Given the description of an element on the screen output the (x, y) to click on. 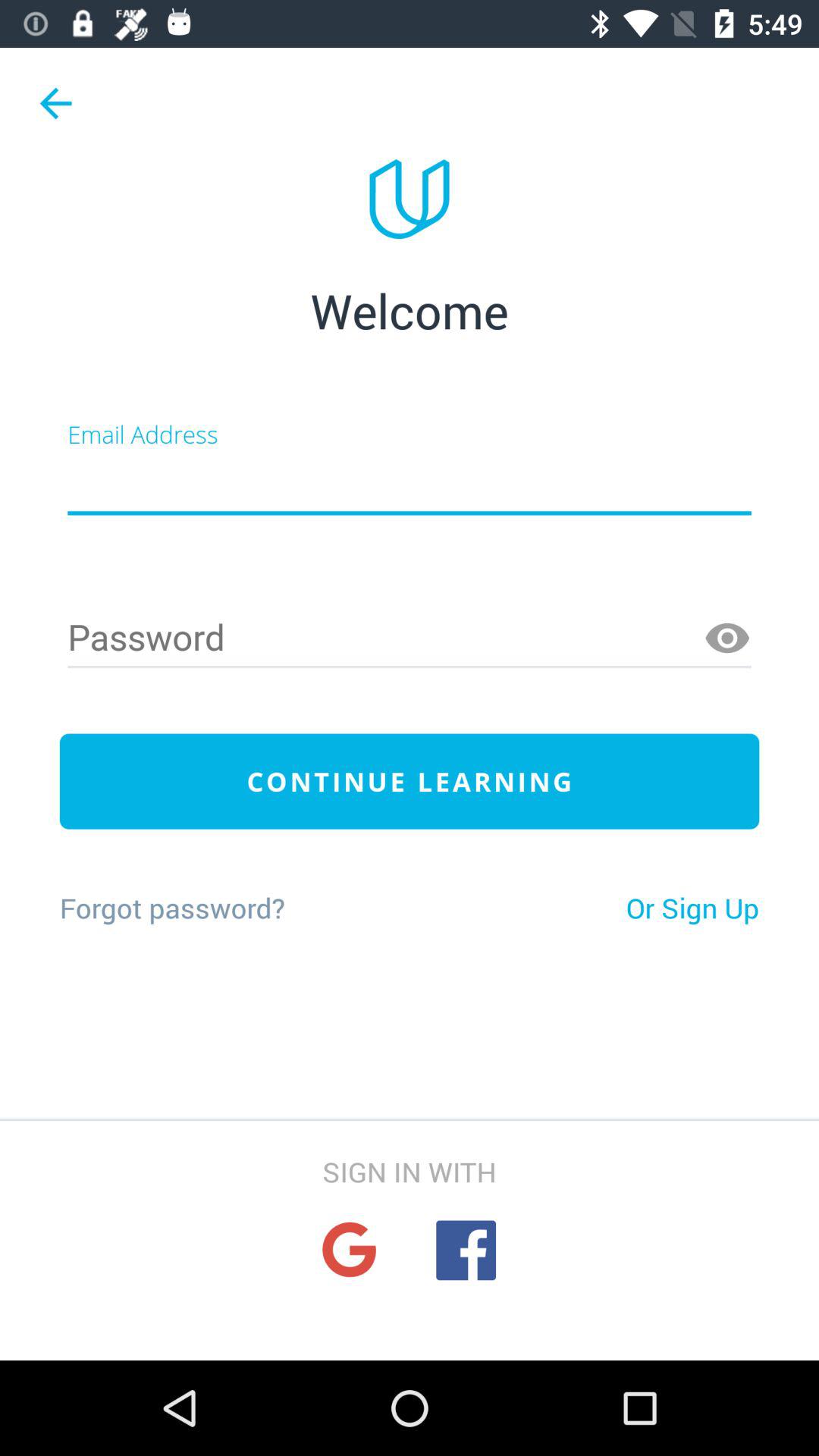
google app (348, 1249)
